Given the description of an element on the screen output the (x, y) to click on. 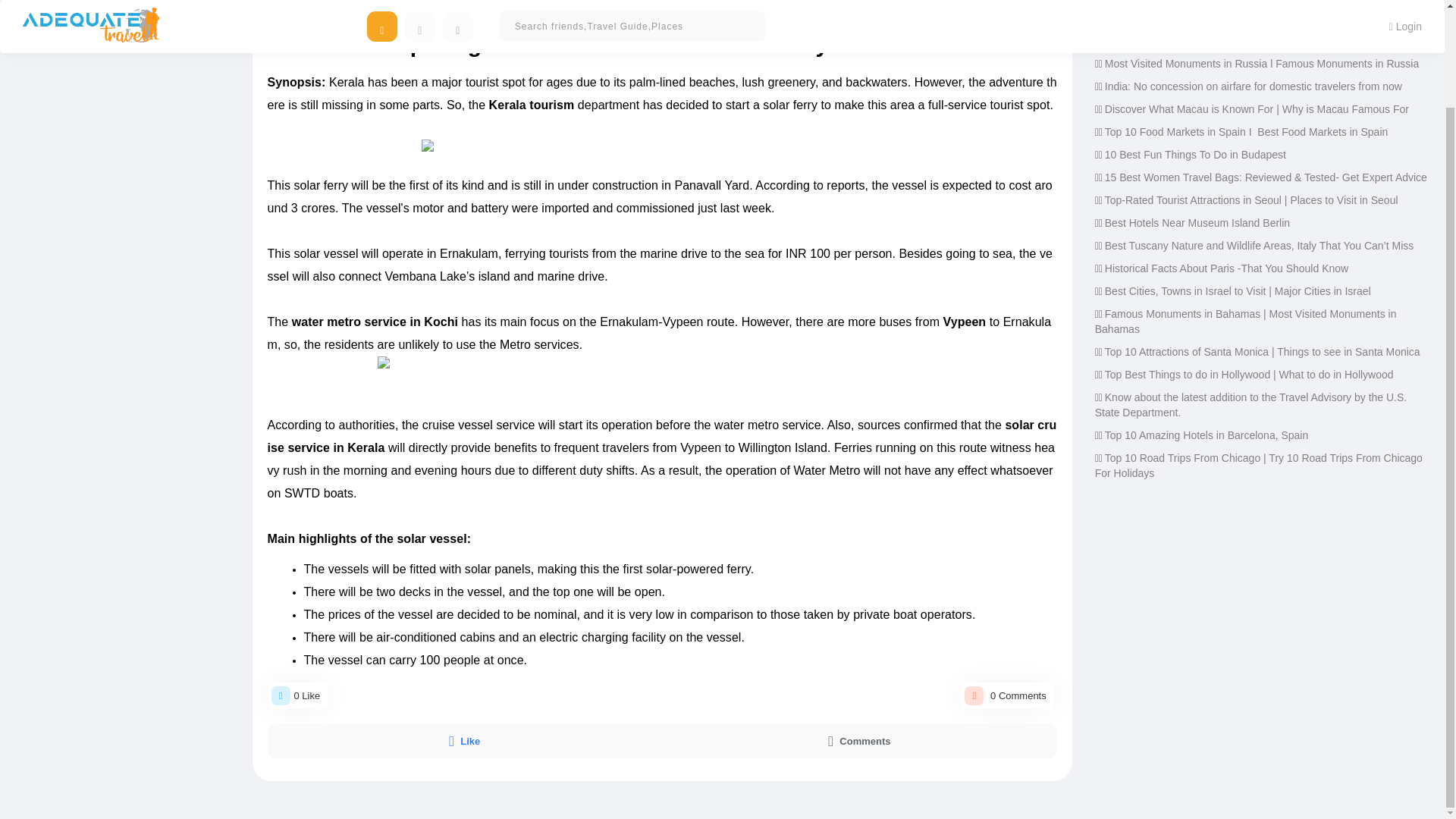
12 Most Ancient Churches in Spain I Famous Churches in Spain (1255, 40)
Best Hotels Near Museum Island Berlin (1197, 223)
Top 10 Food Markets in Spain I  Best Food Markets in Spain (1247, 132)
Top 10 Amazing Hotels in Barcelona, Spain (1206, 435)
Historical Facts About Paris -That You Should Know (1226, 268)
0 Comments (475, 2)
10 Best Fun Things To Do in Budapest (1195, 154)
